Given the description of an element on the screen output the (x, y) to click on. 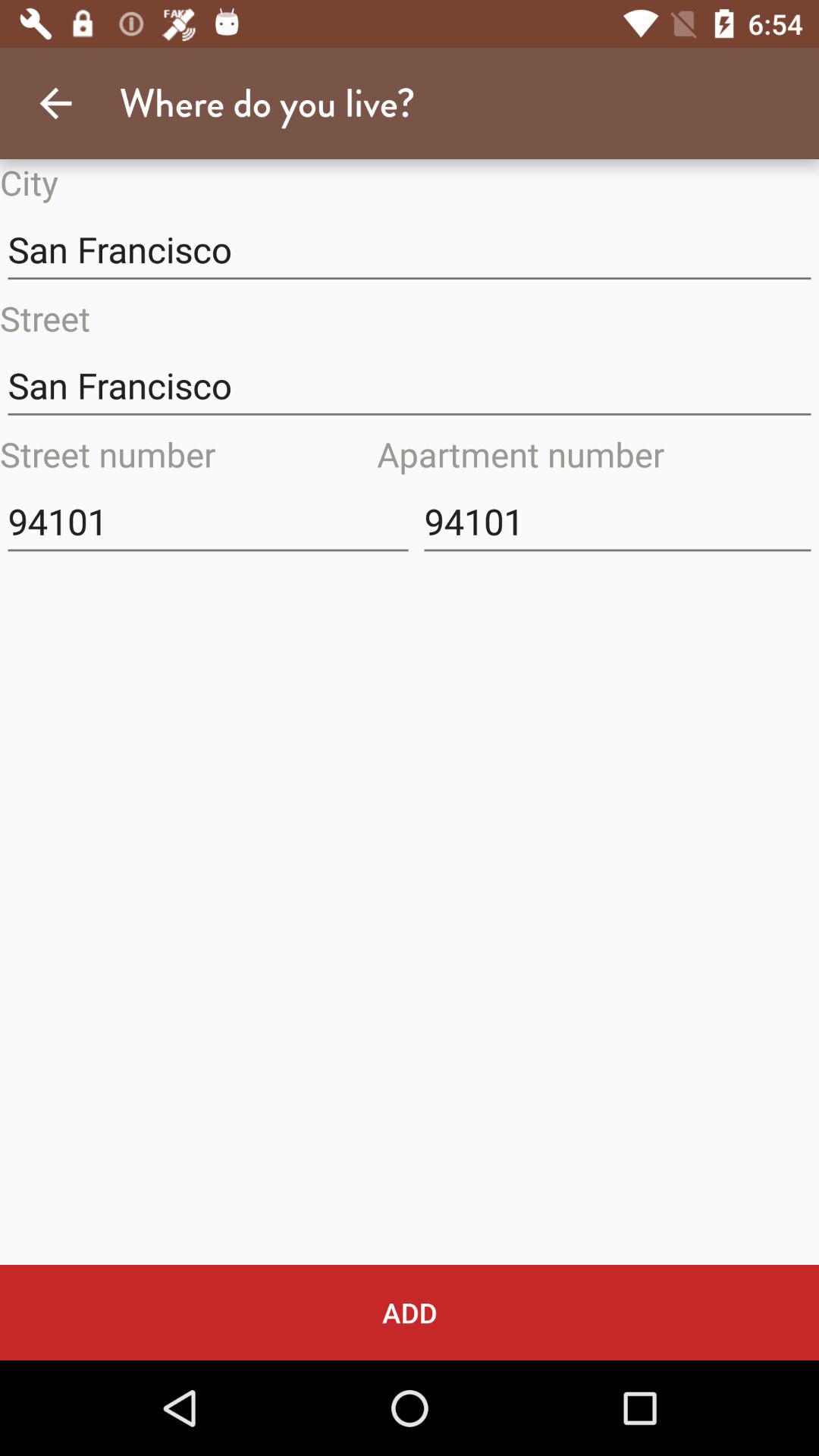
launch item above the city icon (55, 103)
